Given the description of an element on the screen output the (x, y) to click on. 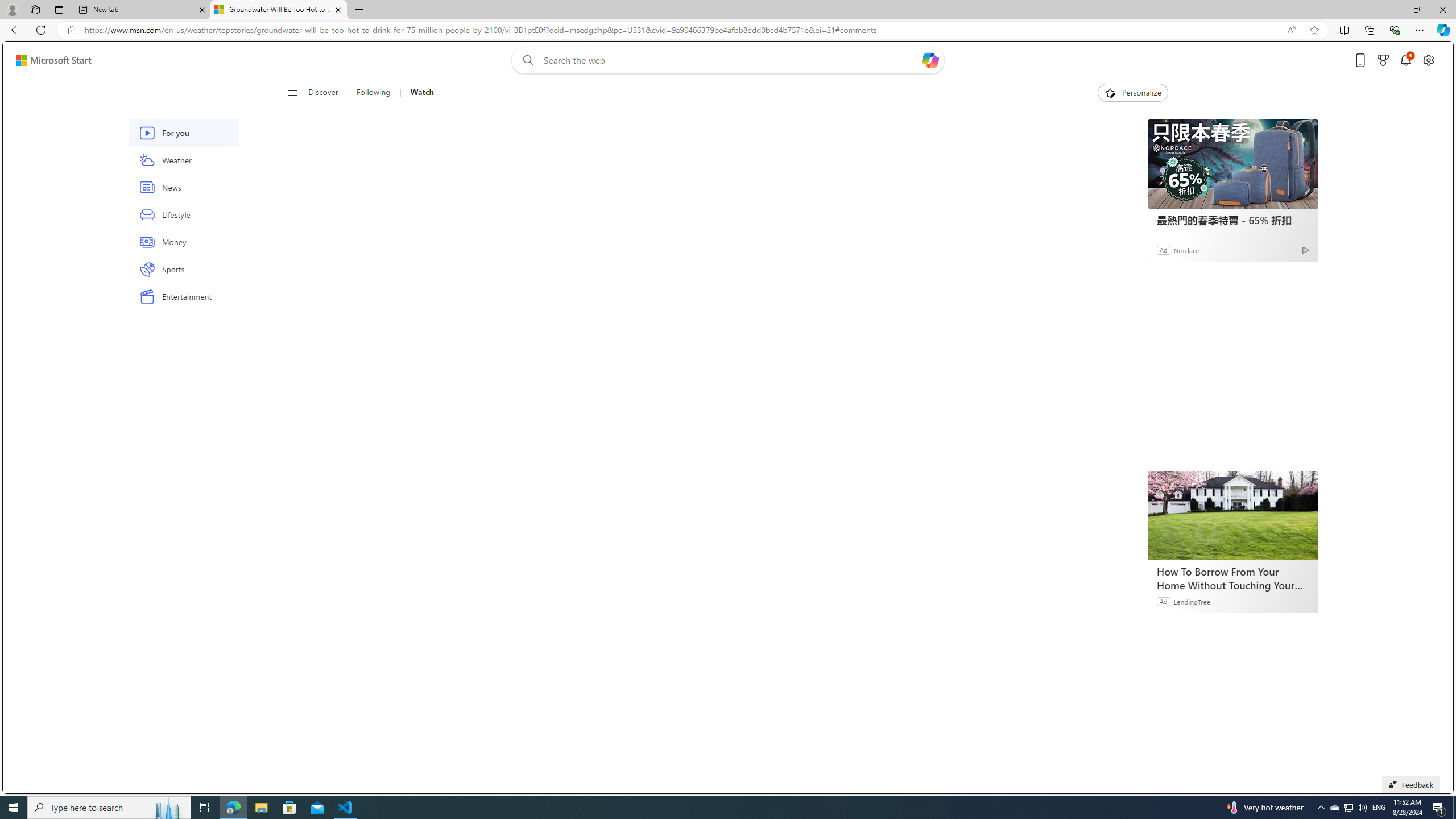
Open settings (1427, 60)
Class: button-glyph (292, 92)
LendingTree (1192, 601)
